Given the description of an element on the screen output the (x, y) to click on. 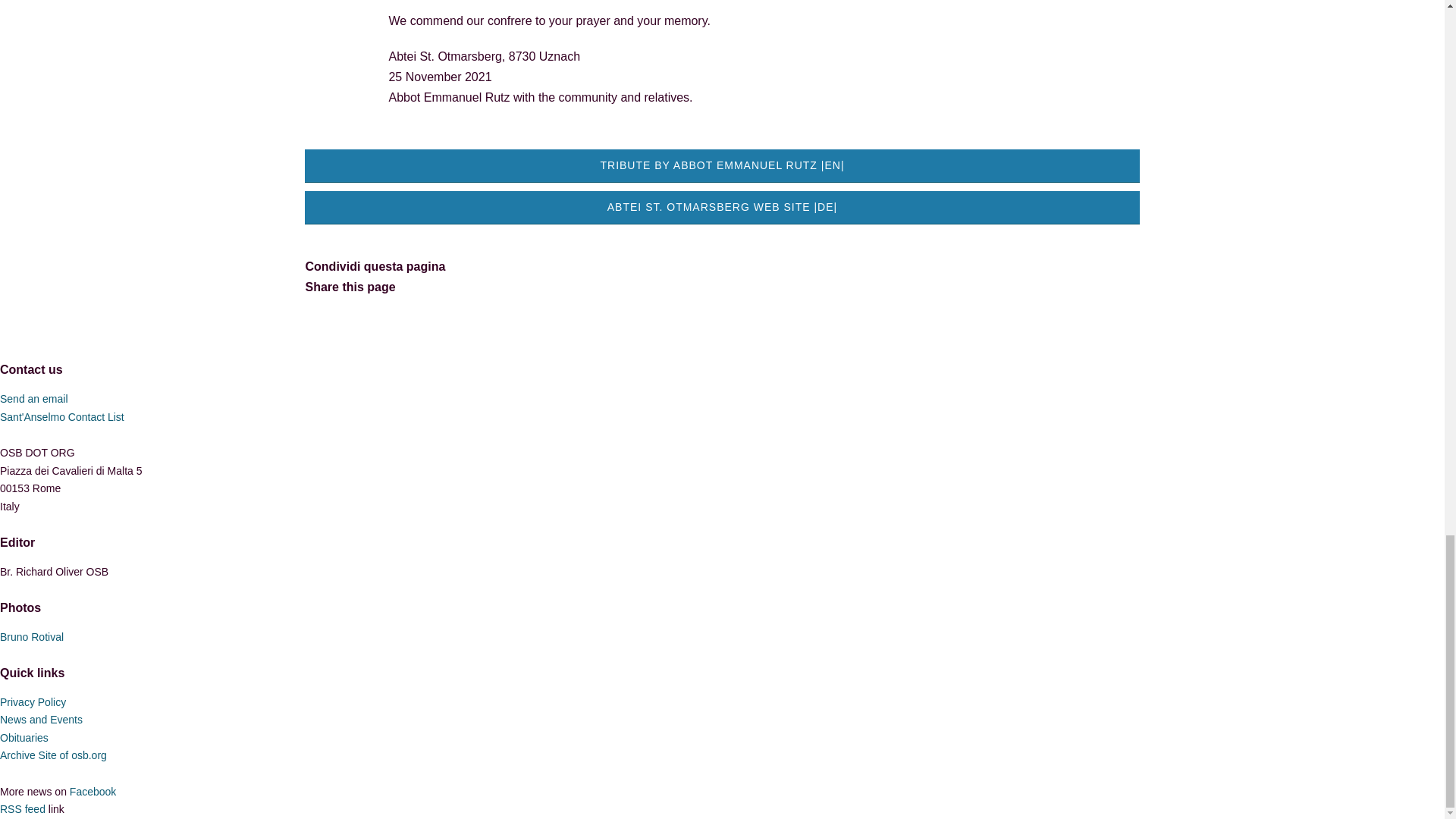
Bruno Rotival (32, 636)
Sant'Anselmo Contact List (61, 417)
Send an email (34, 398)
